Given the description of an element on the screen output the (x, y) to click on. 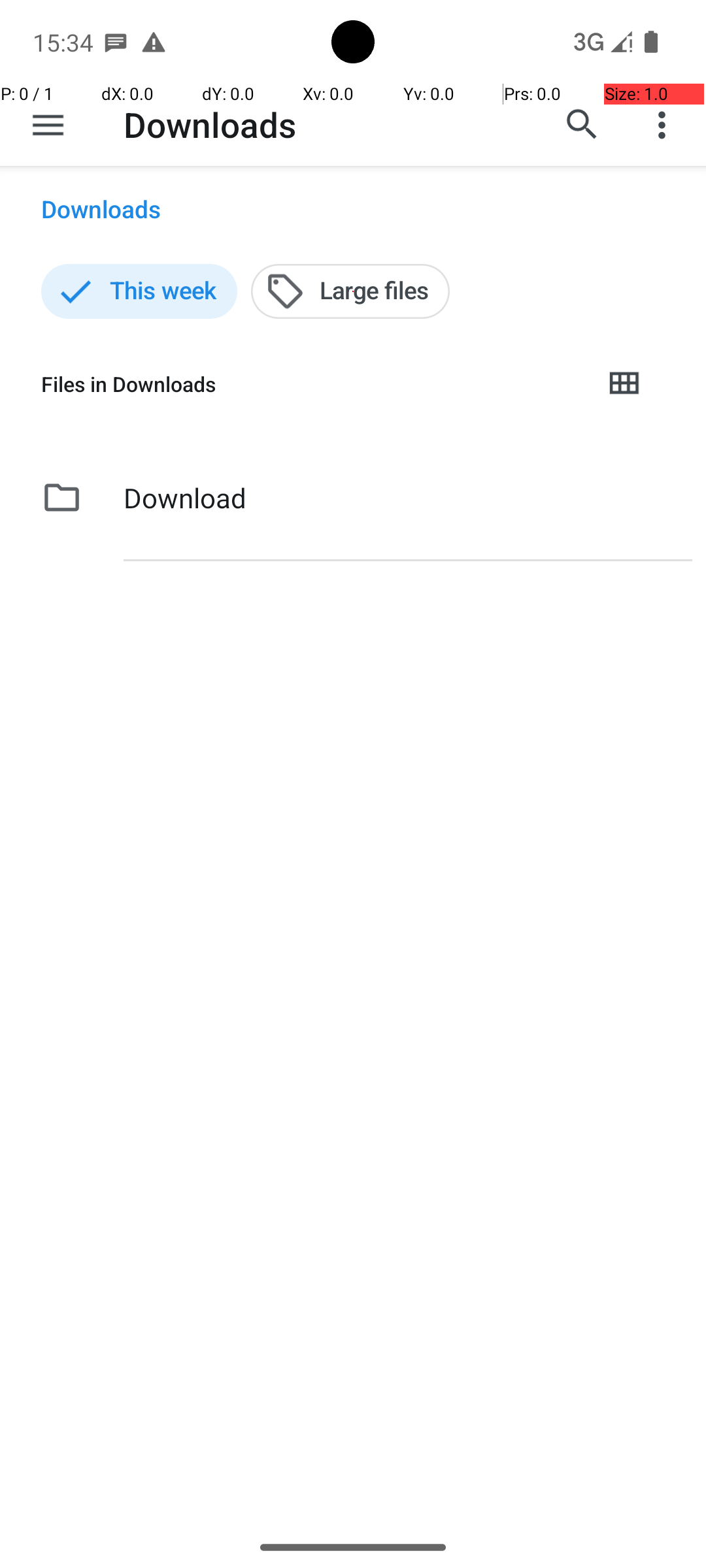
Download Element type: android.widget.TextView (184, 497)
